Given the description of an element on the screen output the (x, y) to click on. 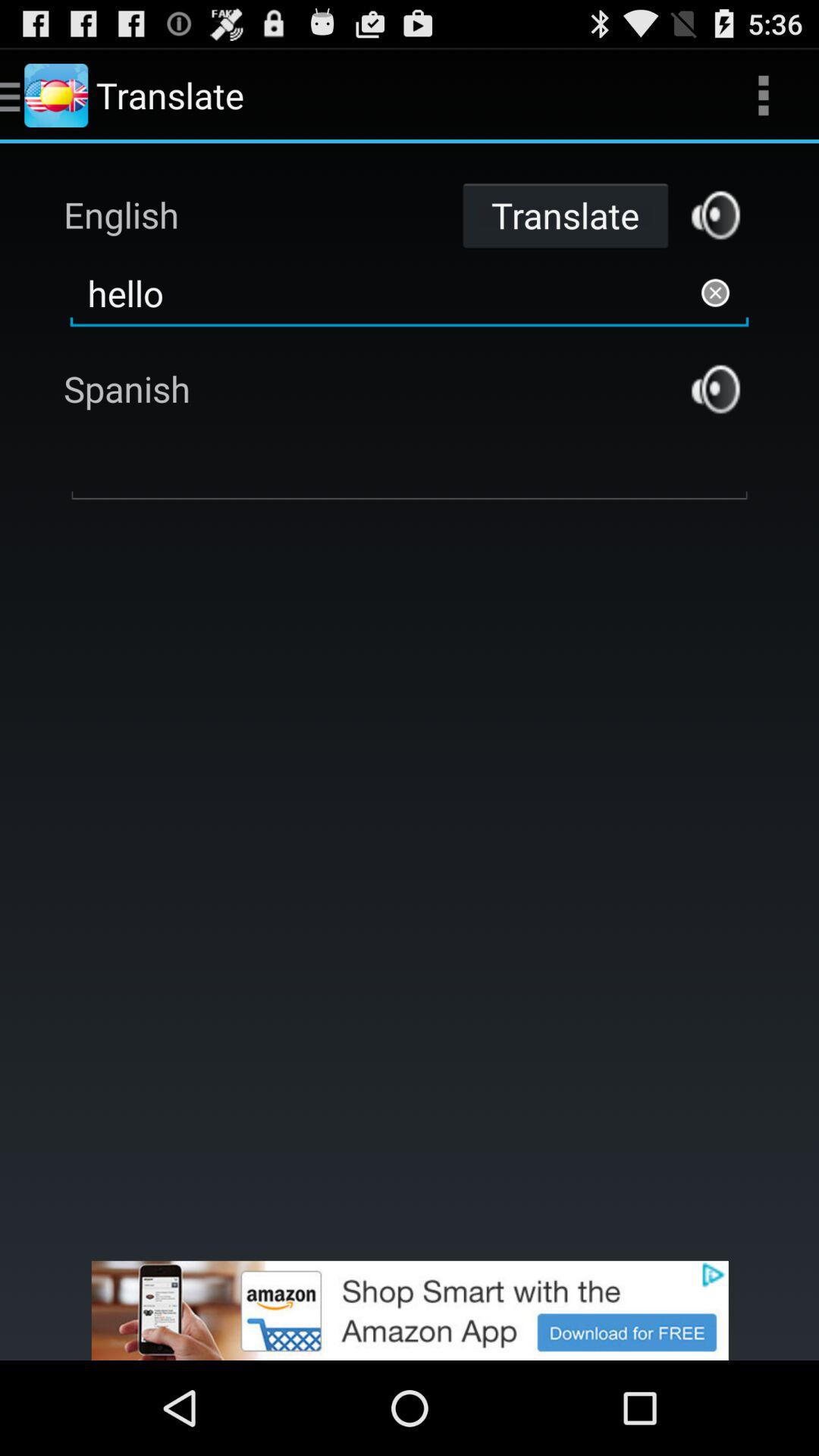
translated box (409, 467)
